Given the description of an element on the screen output the (x, y) to click on. 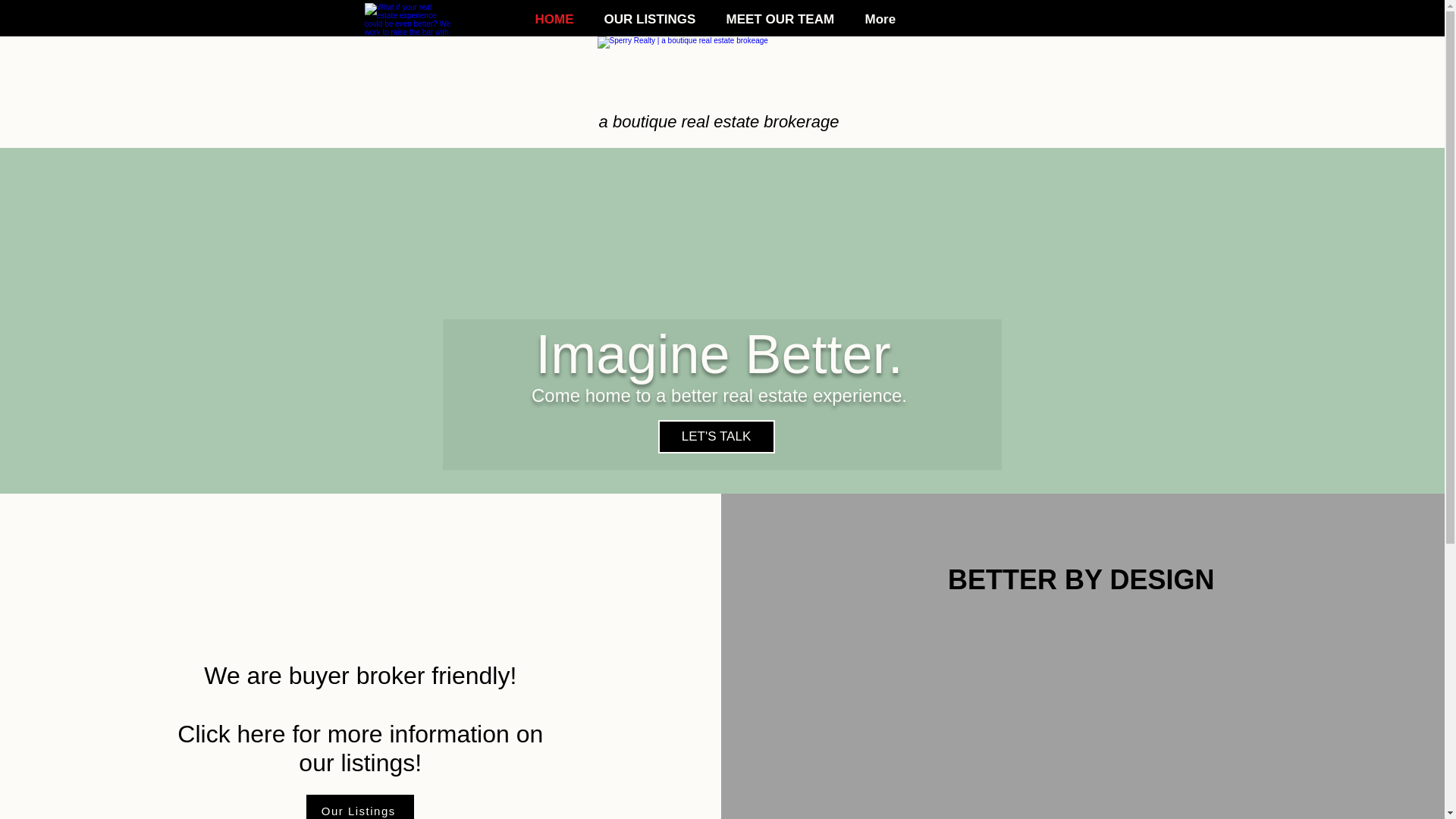
HOME (557, 19)
Imagine Better (408, 19)
MEET OUR TEAM (783, 19)
Our Listings (359, 806)
OUR LISTINGS (653, 19)
Imagine Better (718, 81)
LET'S TALK (716, 436)
